Given the description of an element on the screen output the (x, y) to click on. 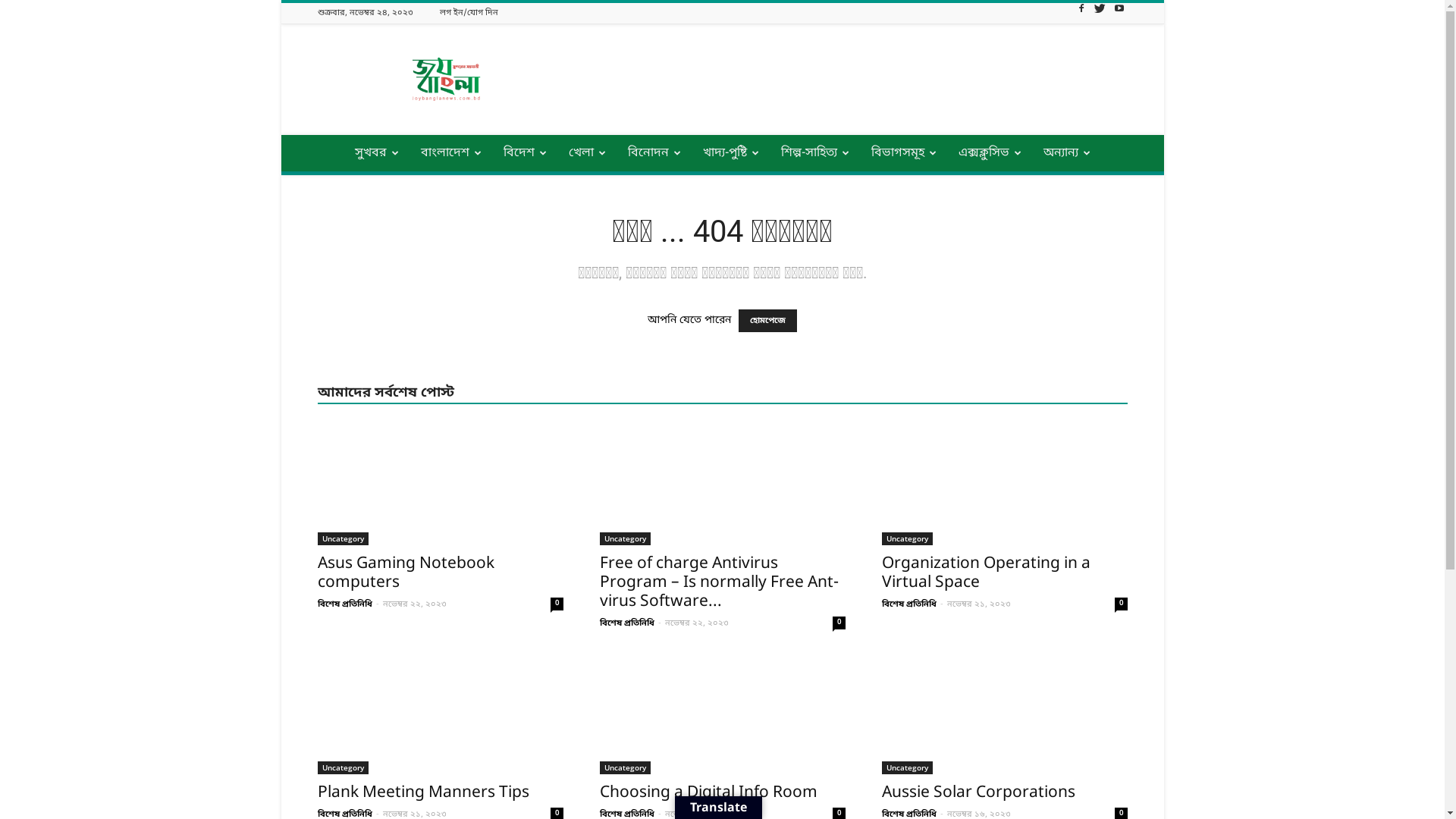
Organization Operating in a Virtual Space Element type: hover (1003, 484)
0 Element type: text (556, 603)
Twitter Element type: hover (1100, 12)
Aussie Solar Corporations Element type: hover (1003, 713)
Youtube Element type: hover (1118, 12)
Organization Operating in a Virtual Space Element type: text (985, 573)
Uncategory Element type: text (341, 767)
Choosing a Digital Info Room Element type: hover (721, 713)
Plank Meeting Manners Tips Element type: text (422, 792)
Facebook Element type: hover (1080, 12)
Uncategory Element type: text (906, 538)
Uncategory Element type: text (624, 538)
Uncategory Element type: text (624, 767)
Choosing a Digital Info Room Element type: text (707, 792)
Asus Gaming Notebook computers Element type: text (404, 573)
Aussie Solar Corporations Element type: text (977, 792)
Asus Gaming Notebook computers Element type: hover (439, 484)
Plank Meeting Manners Tips Element type: hover (439, 713)
0 Element type: text (838, 622)
0 Element type: text (1120, 603)
Uncategory Element type: text (906, 767)
Uncategory Element type: text (341, 538)
